Given the description of an element on the screen output the (x, y) to click on. 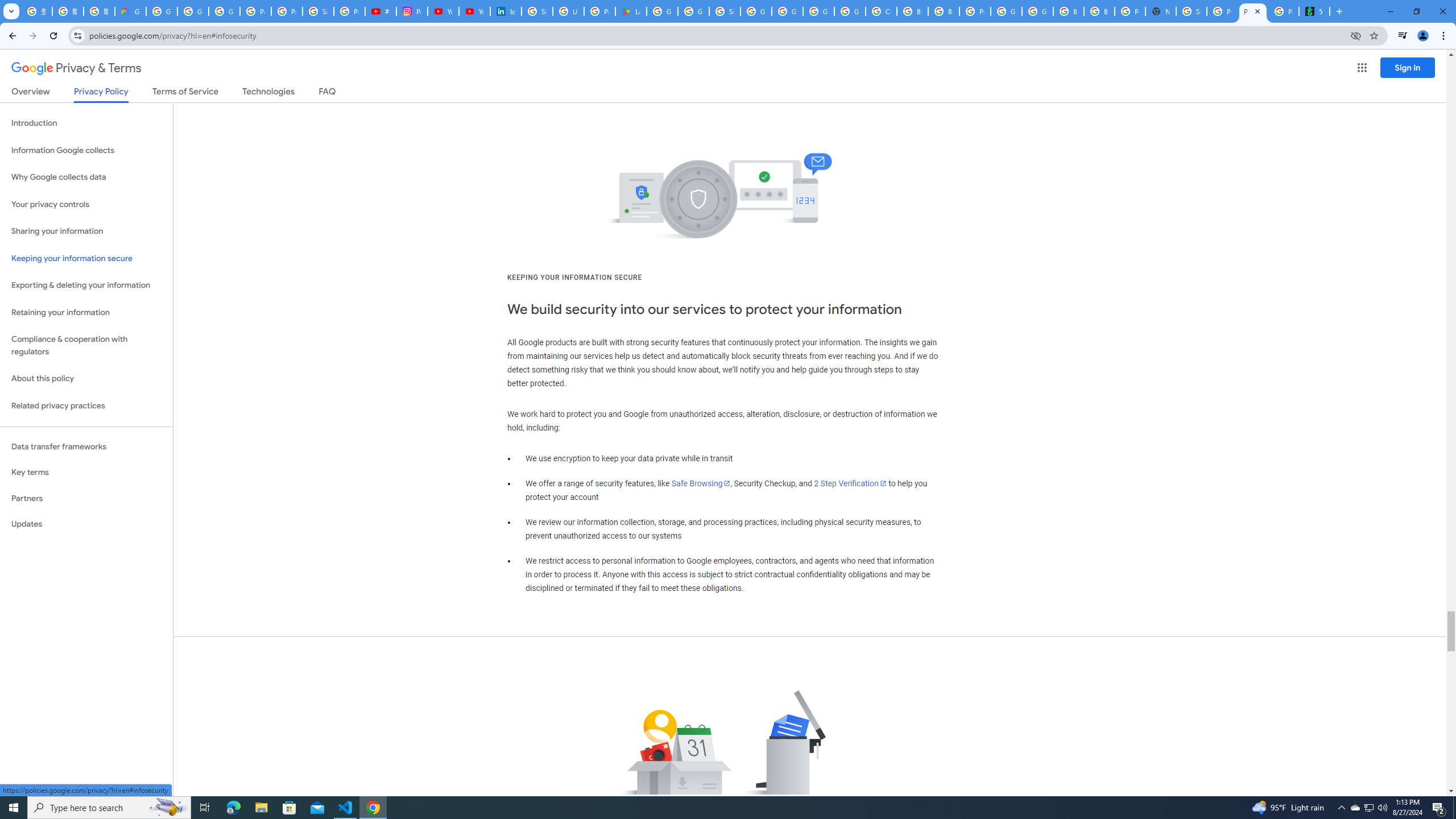
Privacy Help Center - Policies Help (286, 11)
New Tab (1160, 11)
